Given the description of an element on the screen output the (x, y) to click on. 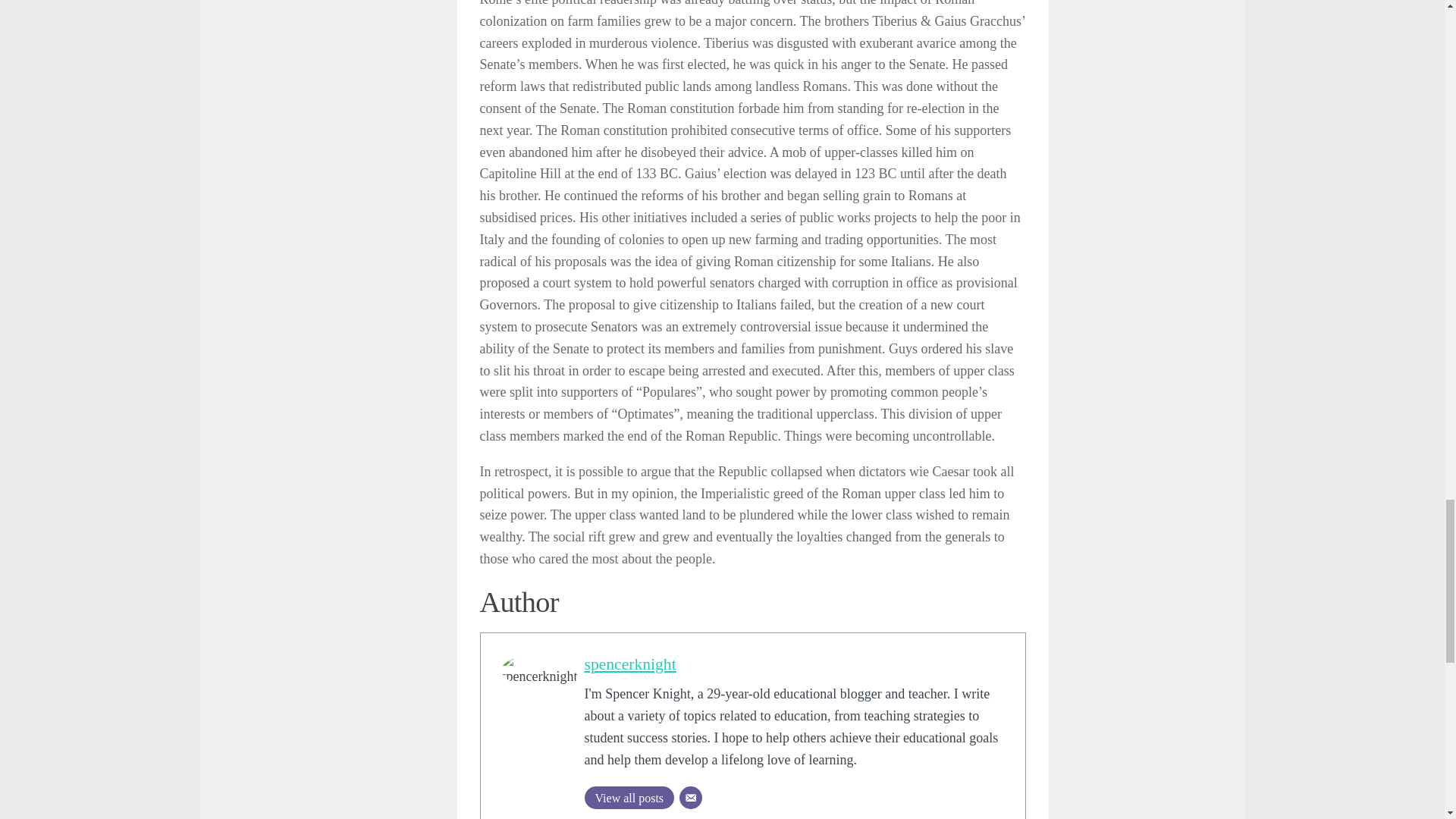
View all posts (628, 796)
spencerknight (629, 664)
spencerknight (629, 664)
View all posts (628, 796)
